Given the description of an element on the screen output the (x, y) to click on. 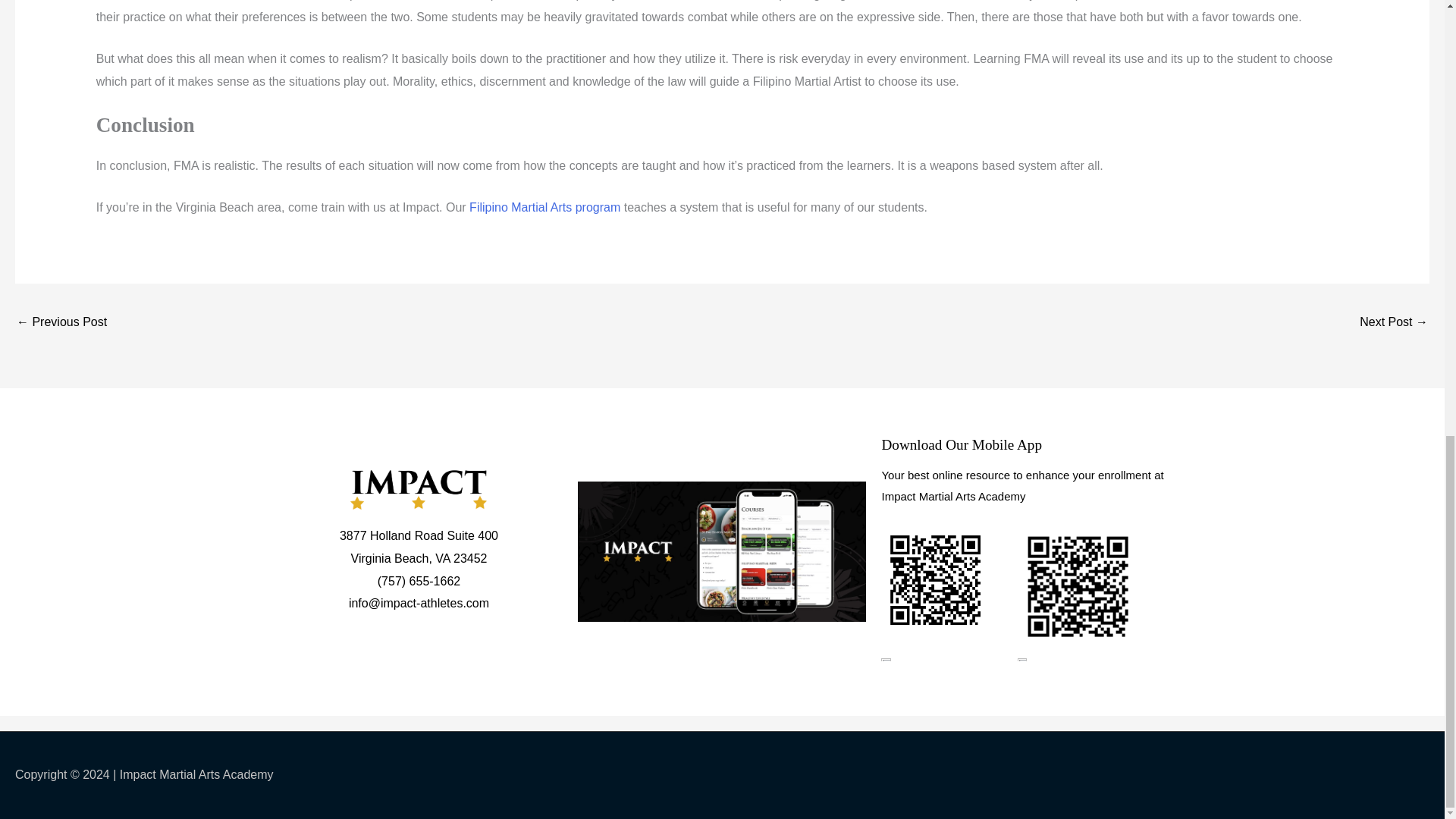
Filipino Martial Arts program (544, 206)
Is Training BJJ Twice a Week Enough? (61, 323)
What Muay Thai Does To Your Body (1393, 323)
